Given the description of an element on the screen output the (x, y) to click on. 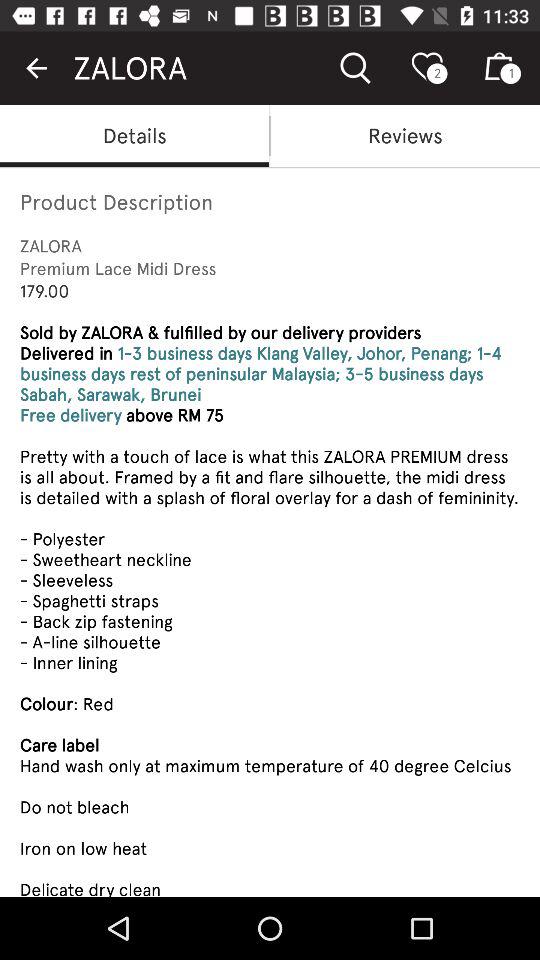
press the icon above details item (36, 68)
